Given the description of an element on the screen output the (x, y) to click on. 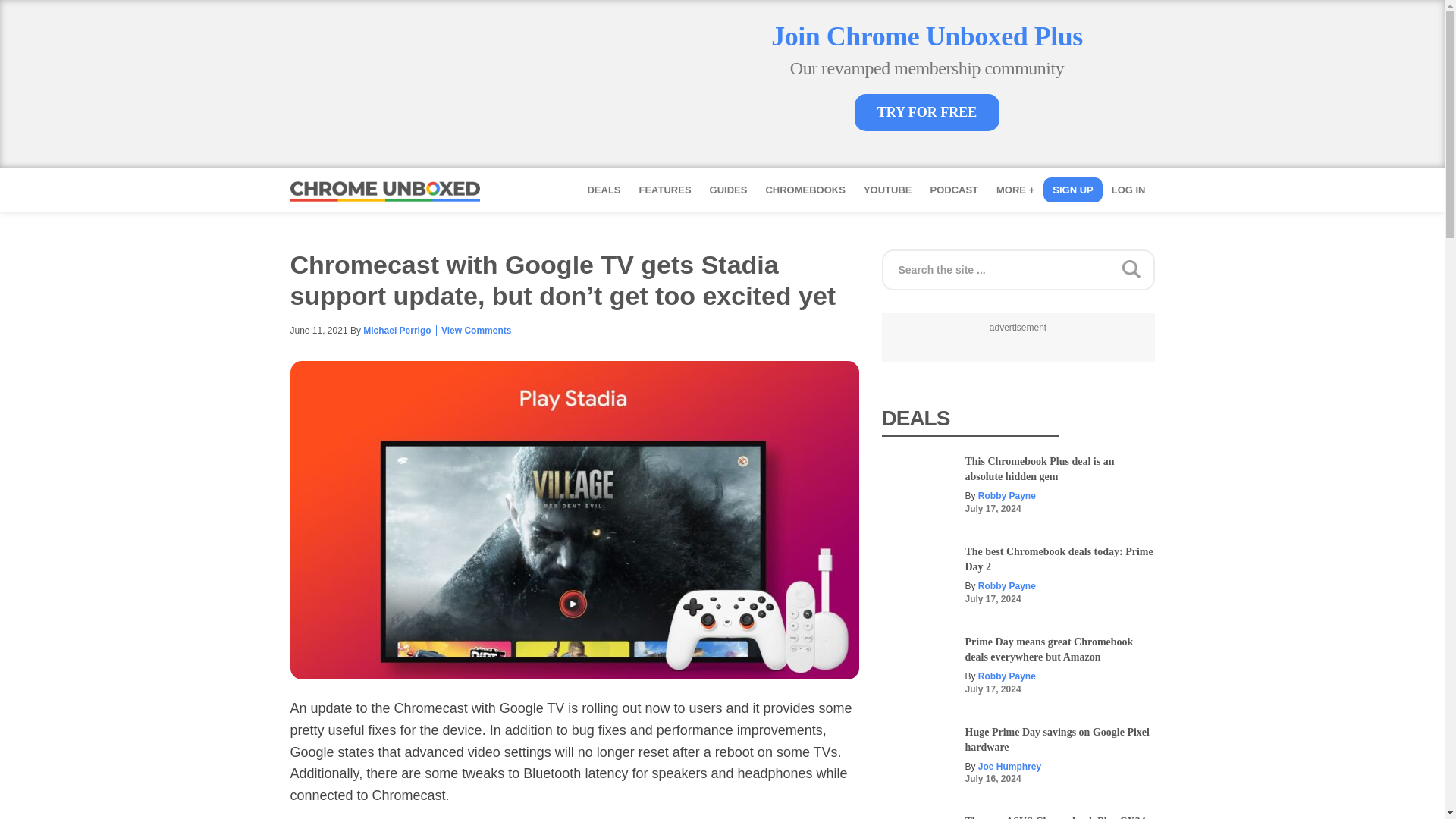
SIGN UP (1072, 189)
PODCAST (953, 189)
LOG IN (1128, 189)
Search (1290, 263)
Michael Perrigo (396, 330)
YOUTUBE (887, 189)
DEALS (603, 189)
TRY FOR FREE (927, 112)
Search (1290, 263)
GUIDES (728, 189)
CHROMEBOOKS (804, 189)
FEATURES (664, 189)
